Given the description of an element on the screen output the (x, y) to click on. 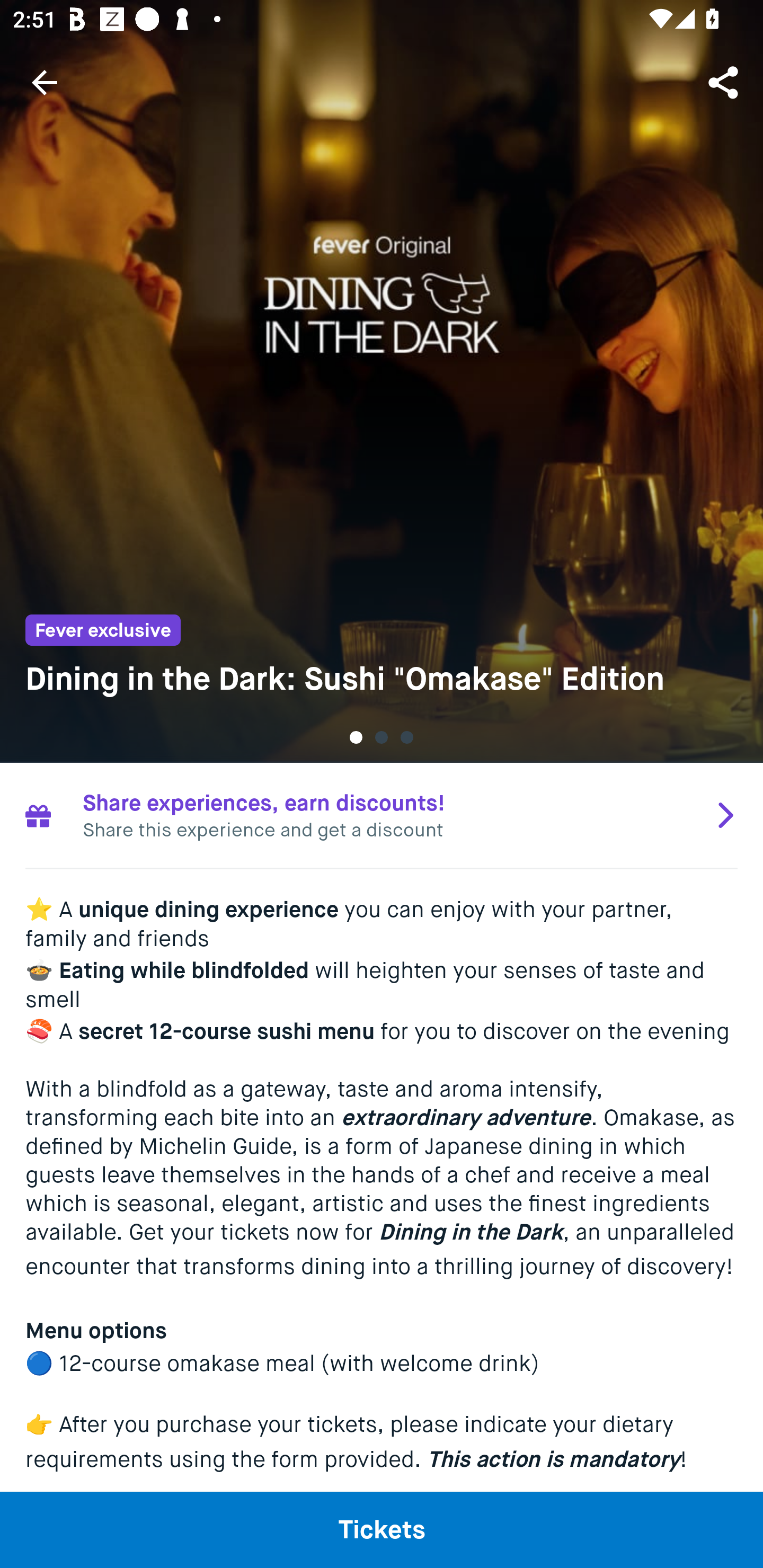
Navigate up (44, 82)
Share (724, 81)
Tickets (381, 1529)
